Given the description of an element on the screen output the (x, y) to click on. 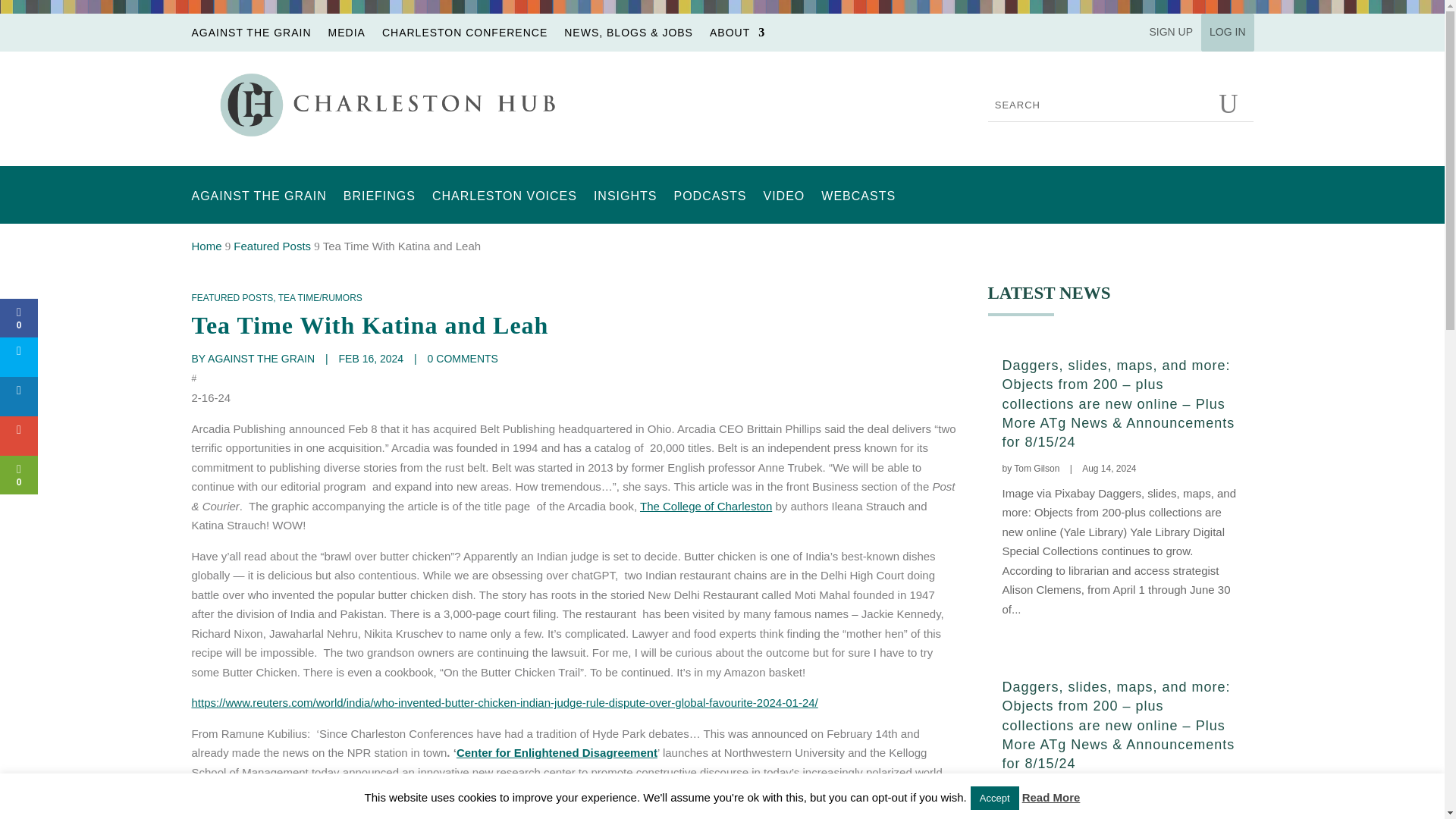
Search (1232, 105)
CHARHUB-horizontallogo (389, 105)
Posts by Against the Grain (261, 358)
Search (1232, 105)
Posts by Tom Gilson (1036, 468)
